Given the description of an element on the screen output the (x, y) to click on. 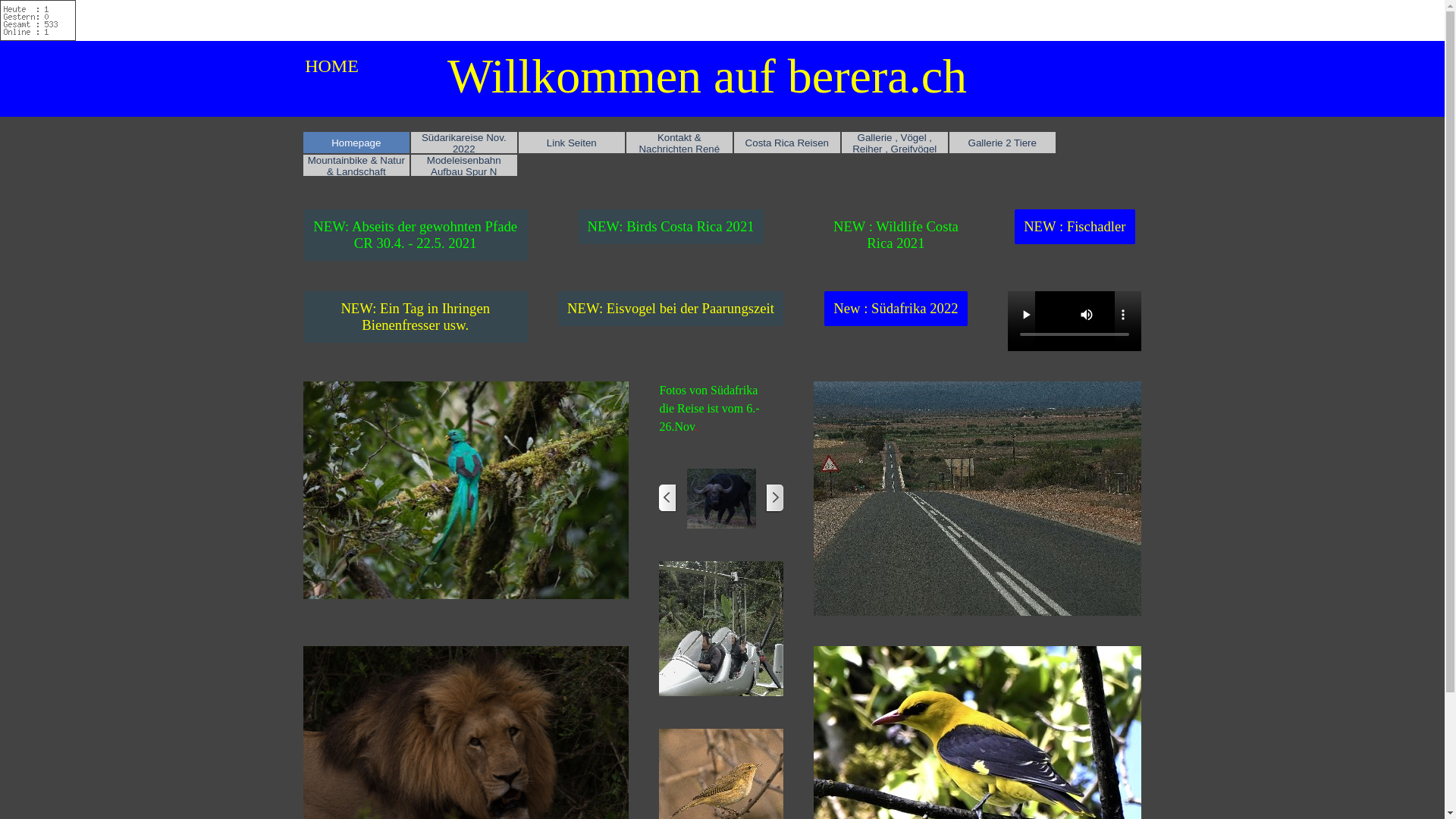
HOME Element type: text (331, 65)
NEW : Wildlife Costa Rica 2021 Element type: text (895, 234)
die Reise ist vom 6.- 26.Nov Element type: text (708, 417)
NEW: Birds Costa Rica 2021 Element type: text (669, 226)
NEW: Abseits der gewohnten Pfade CR 30.4. - 22.5. 2021 Element type: text (415, 234)
Link Seiten Element type: text (571, 142)
NEW: Ein Tag in Ihringen Bienenfresser usw. Element type: text (415, 316)
Homepage Element type: text (356, 142)
Willkommen auf berera.ch Element type: text (706, 76)
NEW : Fischadler Element type: text (1074, 226)
NEW: Eisvogel bei der Paarungszeit Element type: text (670, 308)
